Given the description of an element on the screen output the (x, y) to click on. 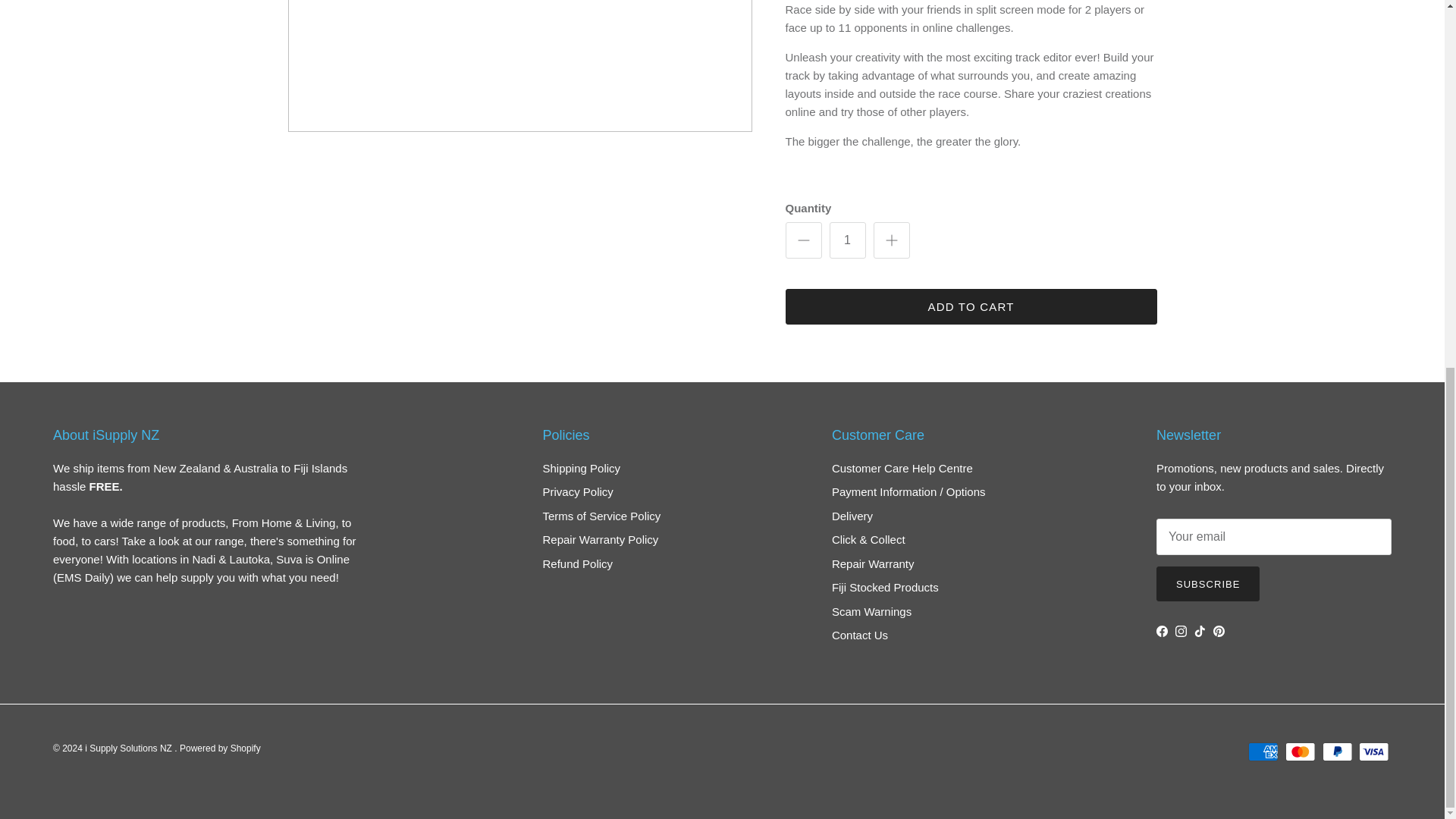
Mastercard (1299, 751)
i Supply Solutions NZ   on TikTok (1199, 631)
i Supply Solutions NZ   on Instagram (1180, 631)
i Supply Solutions NZ   on Facebook (1161, 631)
American Express (1262, 751)
i Supply Solutions NZ   on Pinterest (1218, 631)
1 (847, 239)
PayPal (1337, 751)
Visa (1373, 751)
